Given the description of an element on the screen output the (x, y) to click on. 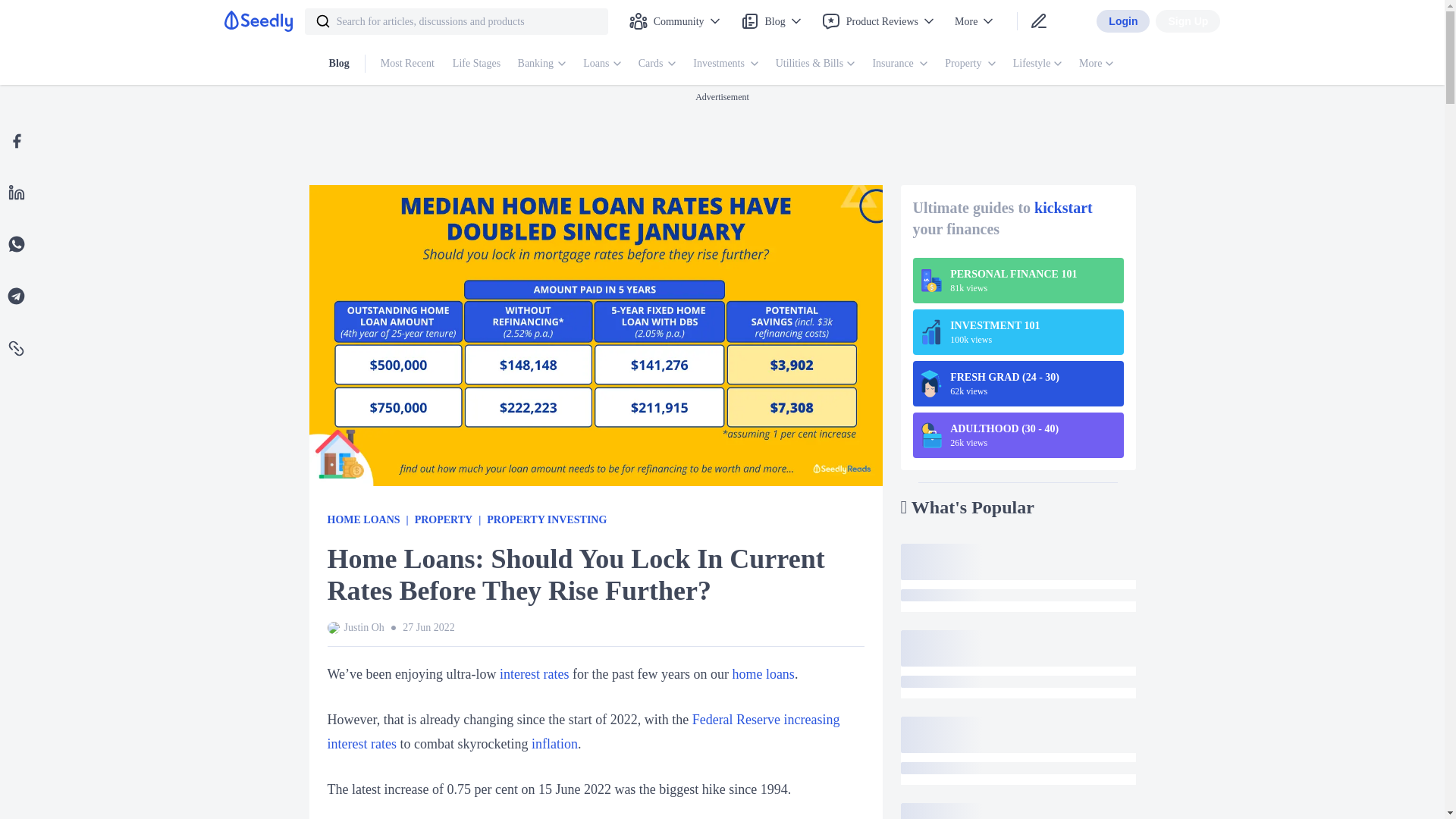
More (974, 20)
Banking (537, 63)
Most Recent (409, 63)
Loans (597, 63)
More (1090, 63)
Community (676, 20)
Property (964, 63)
Lifestyle (1032, 63)
Product Reviews (878, 20)
Loans (603, 63)
